Given the description of an element on the screen output the (x, y) to click on. 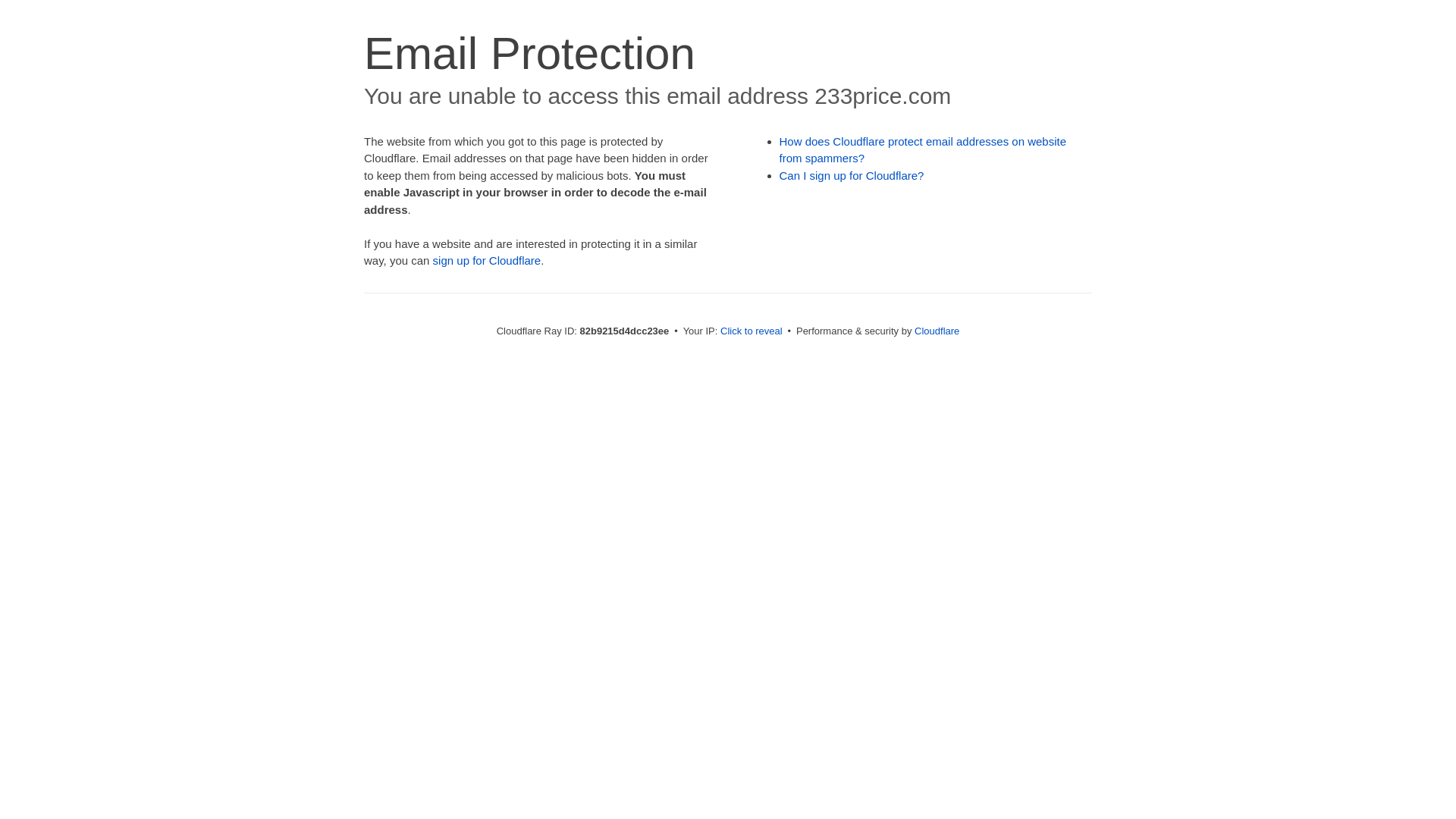
Cloudflare Element type: text (936, 330)
Click to reveal Element type: text (751, 330)
sign up for Cloudflare Element type: text (487, 260)
Can I sign up for Cloudflare? Element type: text (851, 175)
